Given the description of an element on the screen output the (x, y) to click on. 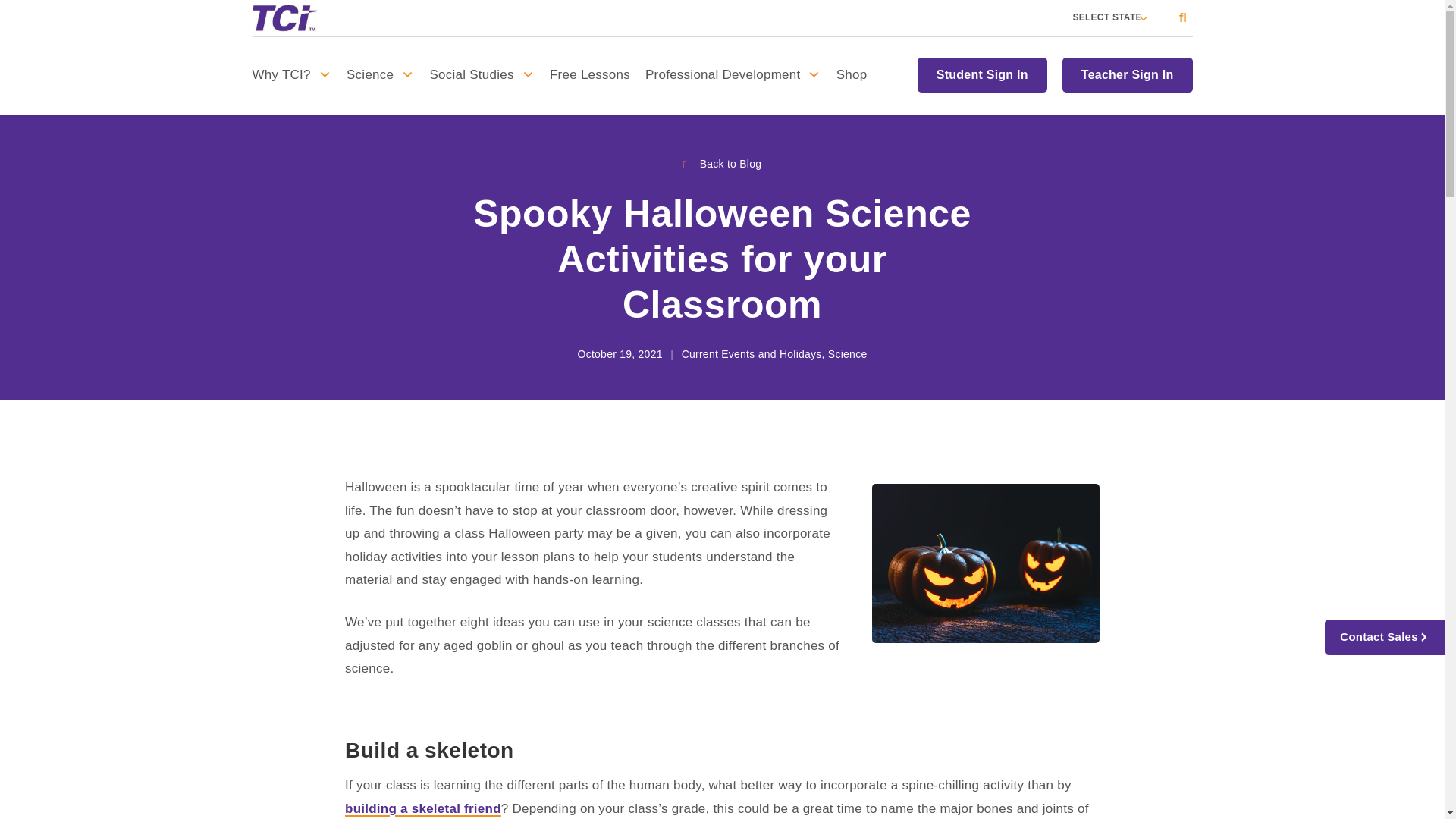
Toggle Search (1182, 18)
Shop (851, 74)
Student Sign In (985, 74)
Social Studies (481, 74)
Science (380, 74)
Professional Development (732, 74)
Why TCI? (295, 74)
Teacher Sign In (1123, 74)
Free Lessons (589, 74)
